Given the description of an element on the screen output the (x, y) to click on. 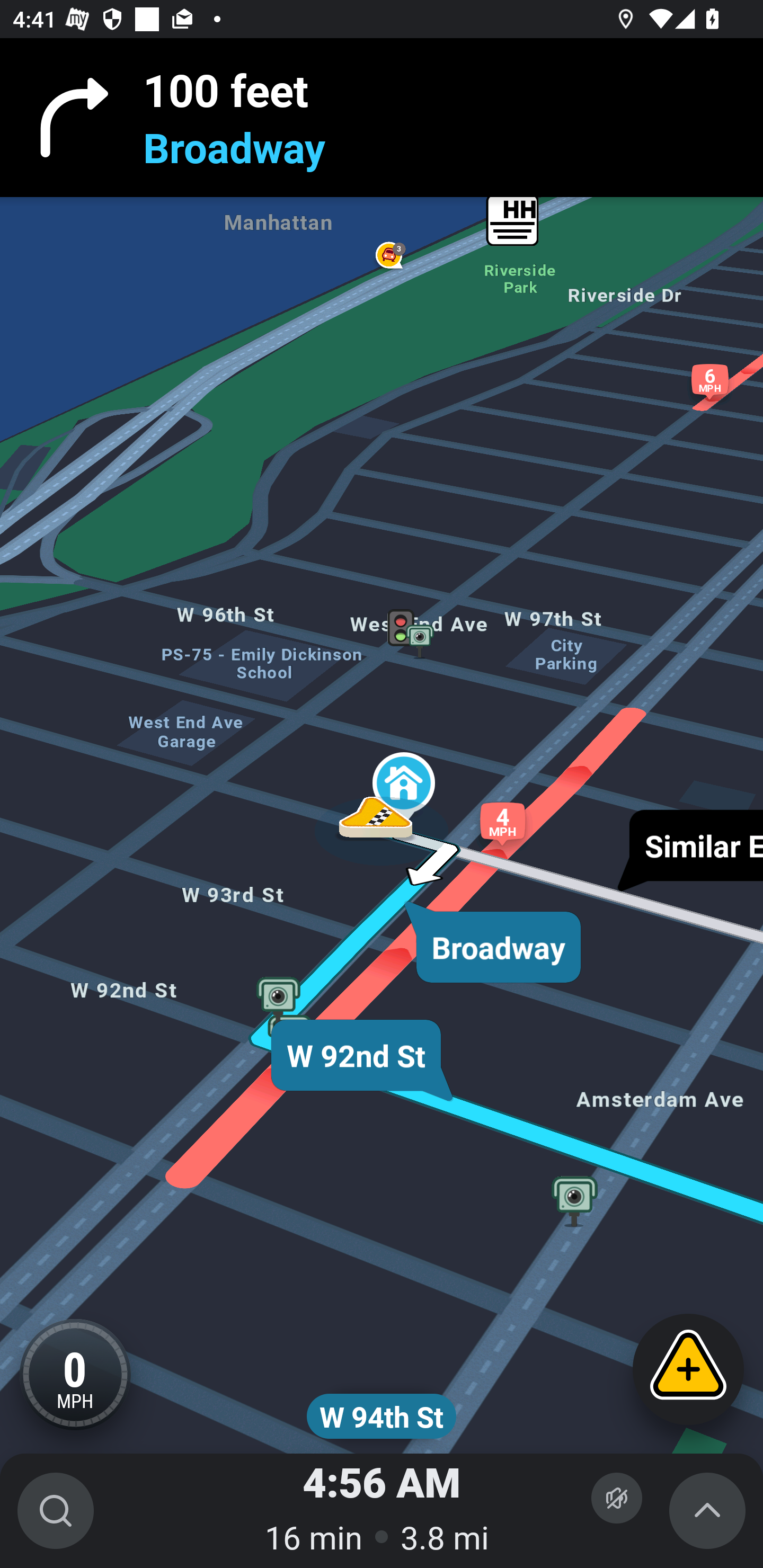
100 feet Broadway (381, 117)
4:56 AM 16 min 3.8 mi (381, 1510)
